Given the description of an element on the screen output the (x, y) to click on. 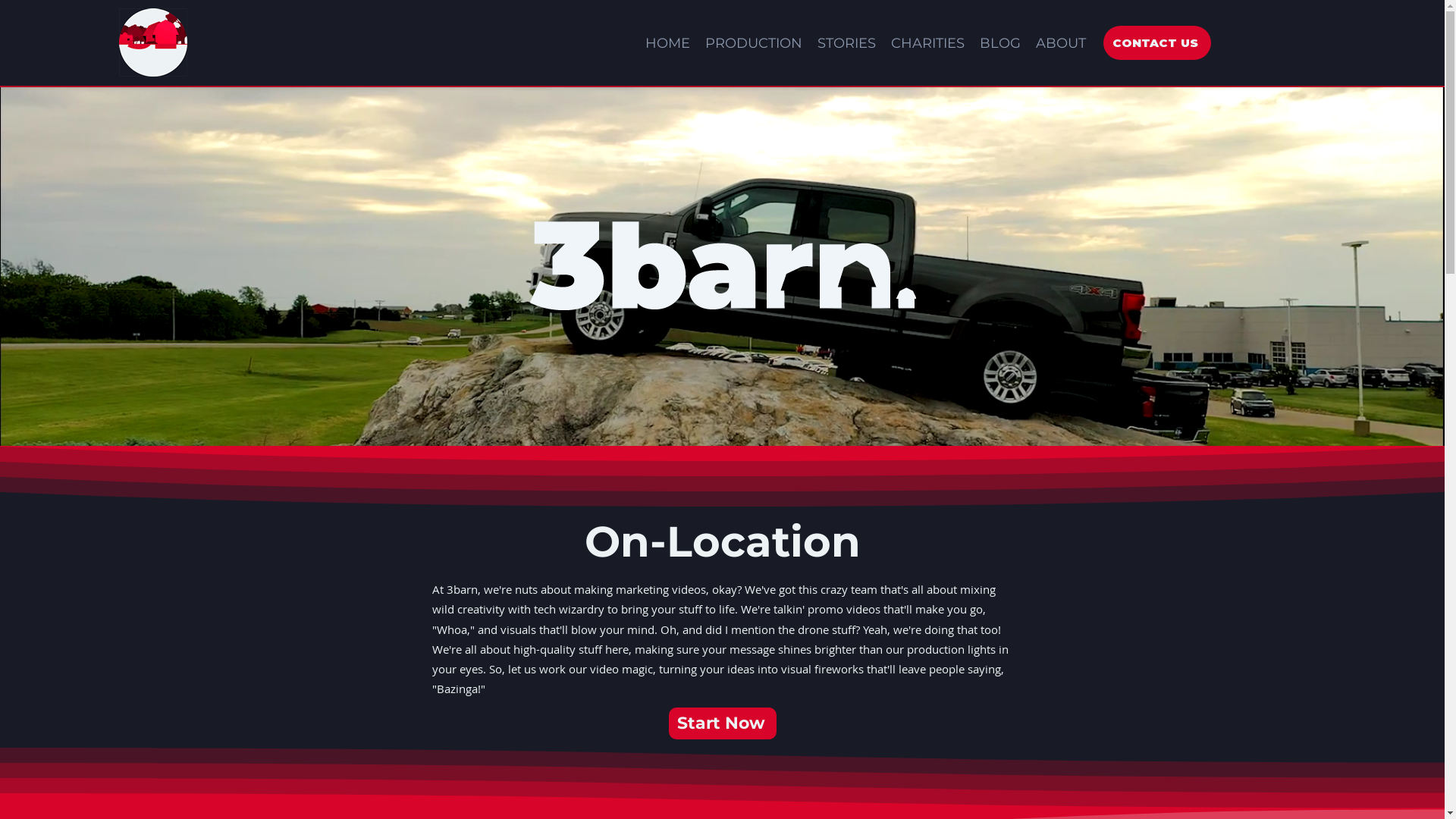
Start Now Element type: text (722, 722)
ABOUT Element type: text (1060, 42)
CONTACT US Element type: text (1157, 42)
HOME Element type: text (667, 42)
BLOG Element type: text (1000, 42)
CHARITIES Element type: text (927, 42)
